Given the description of an element on the screen output the (x, y) to click on. 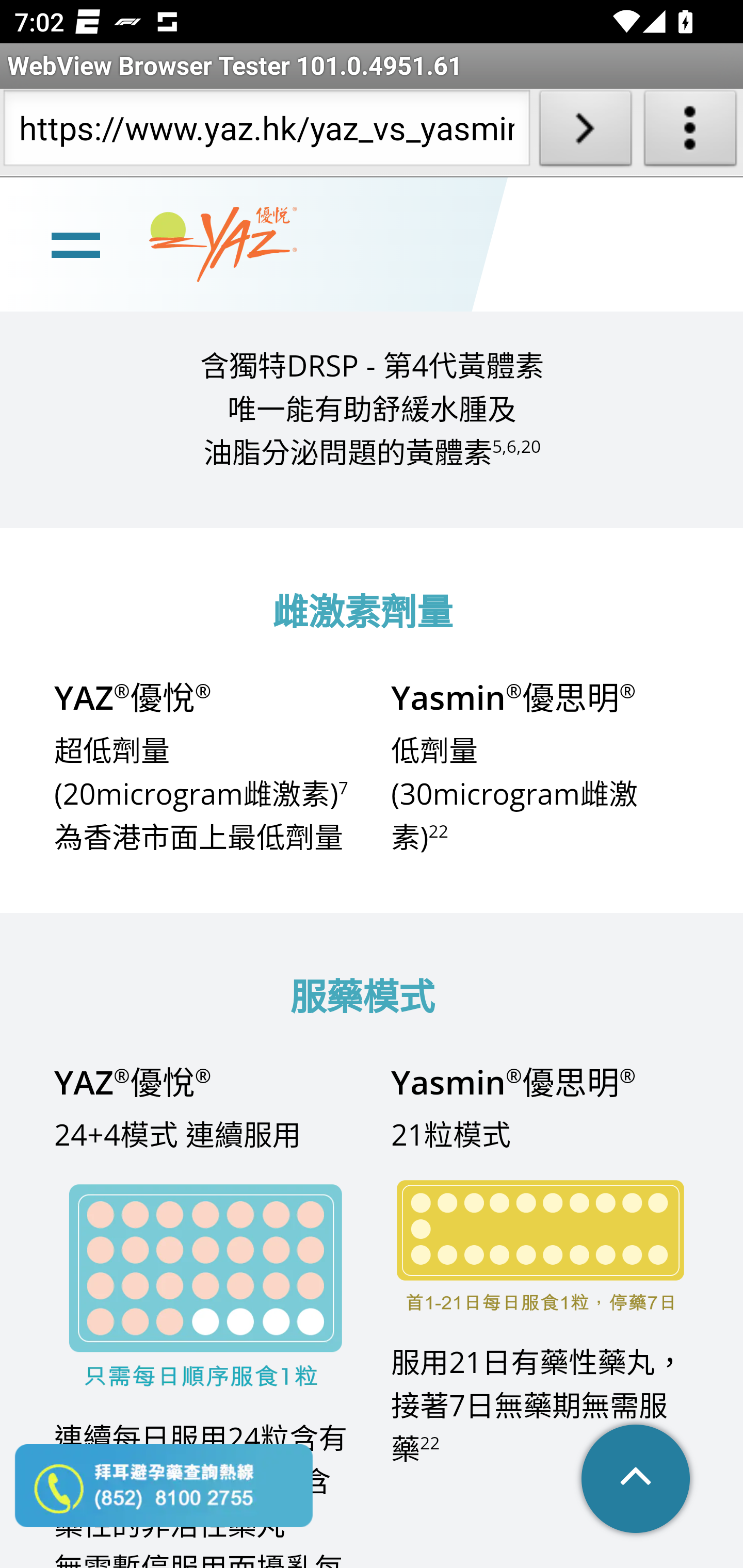
Load URL (585, 132)
About WebView (690, 132)
www.yaz (222, 244)
line Toggle burger menu (75, 242)
 (636, 1480)
